Given the description of an element on the screen output the (x, y) to click on. 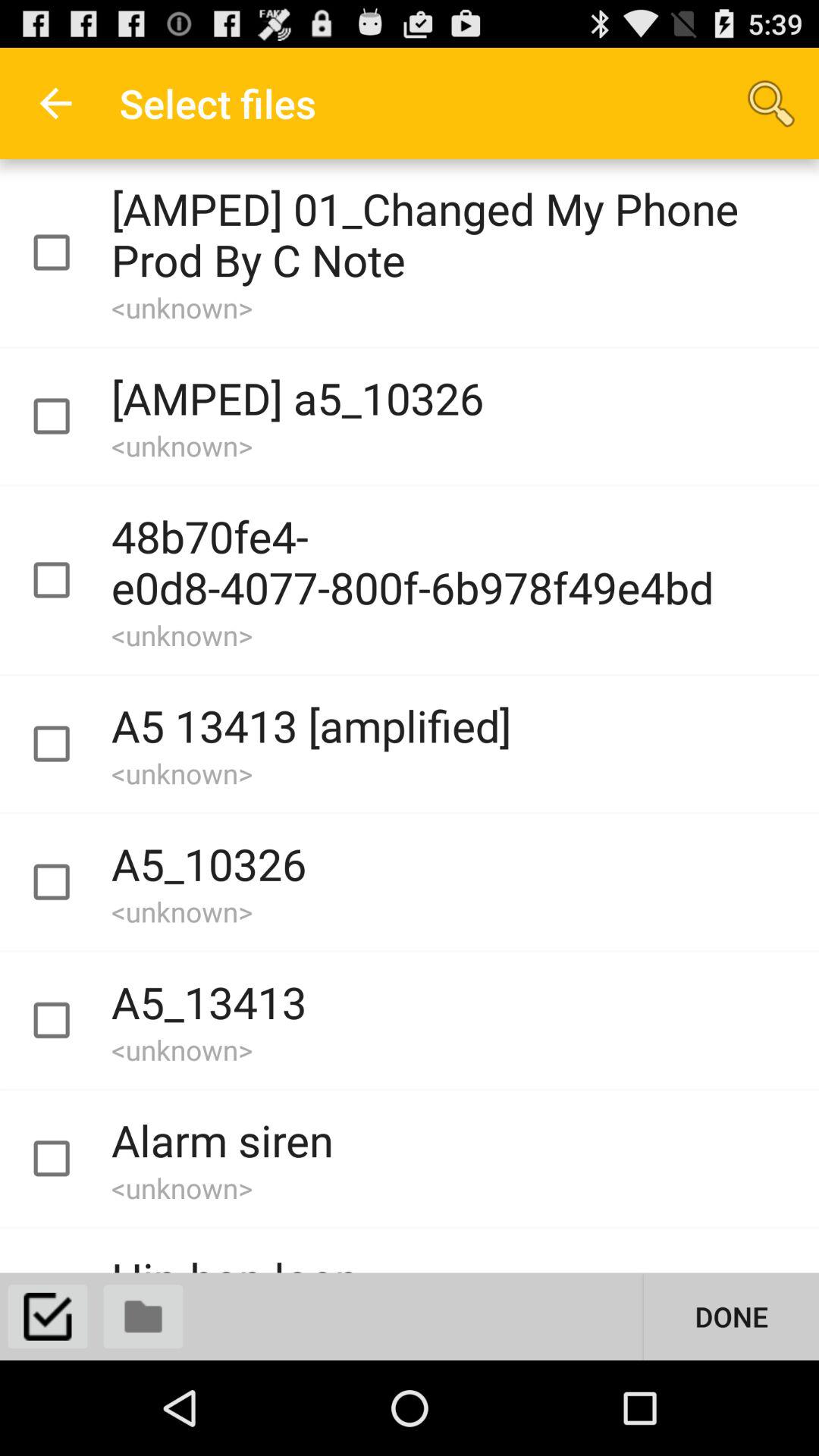
turn off the button at the bottom right corner (731, 1316)
